Given the description of an element on the screen output the (x, y) to click on. 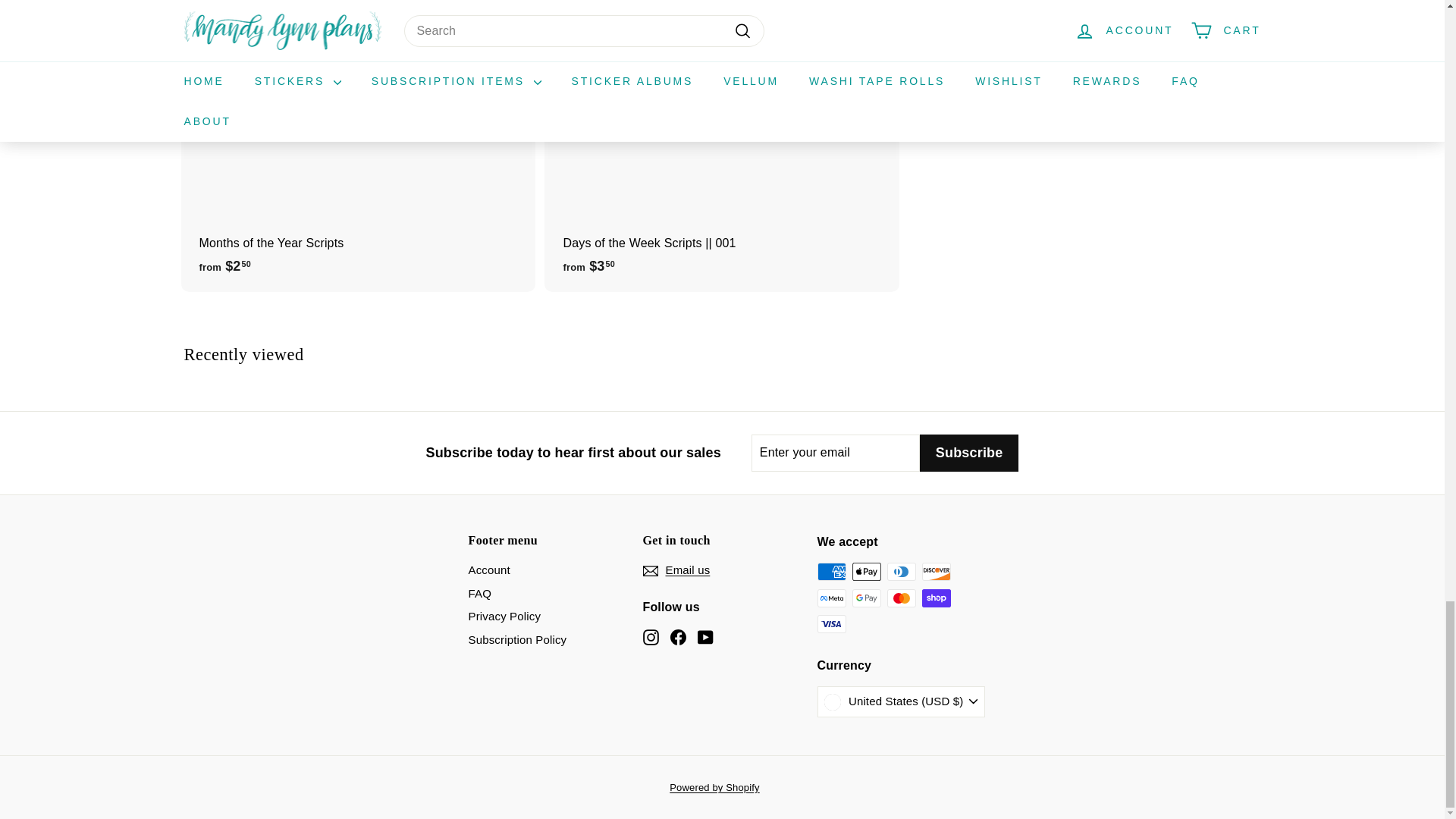
Mandy Lynn Plans on Instagram (651, 636)
Mandy Lynn Plans on Facebook (677, 636)
American Express (830, 571)
instagram (651, 637)
Mandy Lynn Plans on YouTube (705, 636)
Apple Pay (865, 571)
